Given the description of an element on the screen output the (x, y) to click on. 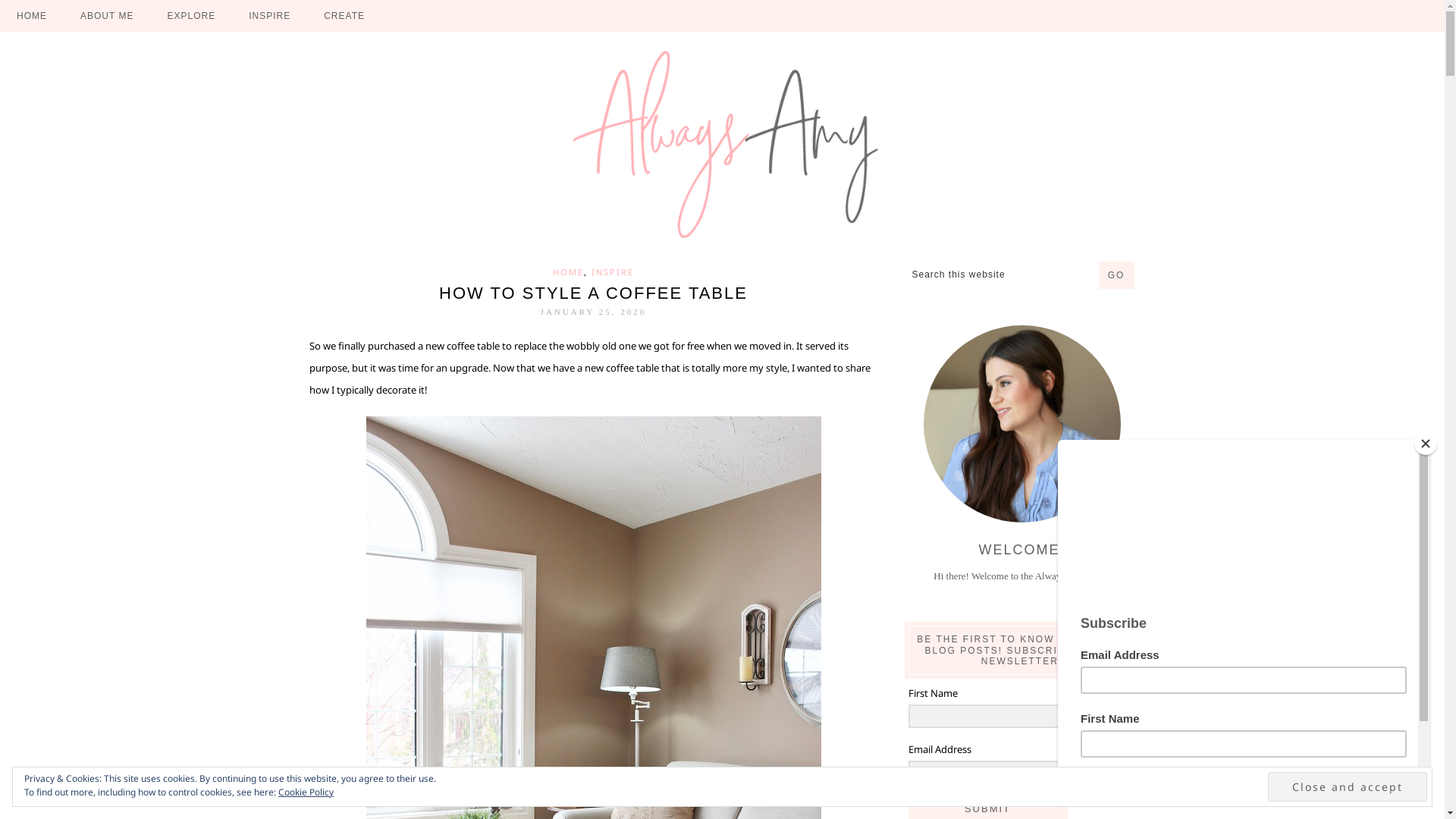
INSPIRE Element type: text (612, 271)
EXPLORE Element type: text (190, 15)
Back Top Element type: text (1414, 796)
INSPIRE Element type: text (269, 15)
ABOUT ME Element type: text (106, 15)
GO Element type: text (1115, 274)
Cookie Policy Element type: text (305, 791)
CREATE Element type: text (344, 15)
ALWAYS AMY Element type: text (721, 143)
HOME Element type: text (31, 15)
Close and accept Element type: text (1347, 786)
HOME Element type: text (567, 271)
